Given the description of an element on the screen output the (x, y) to click on. 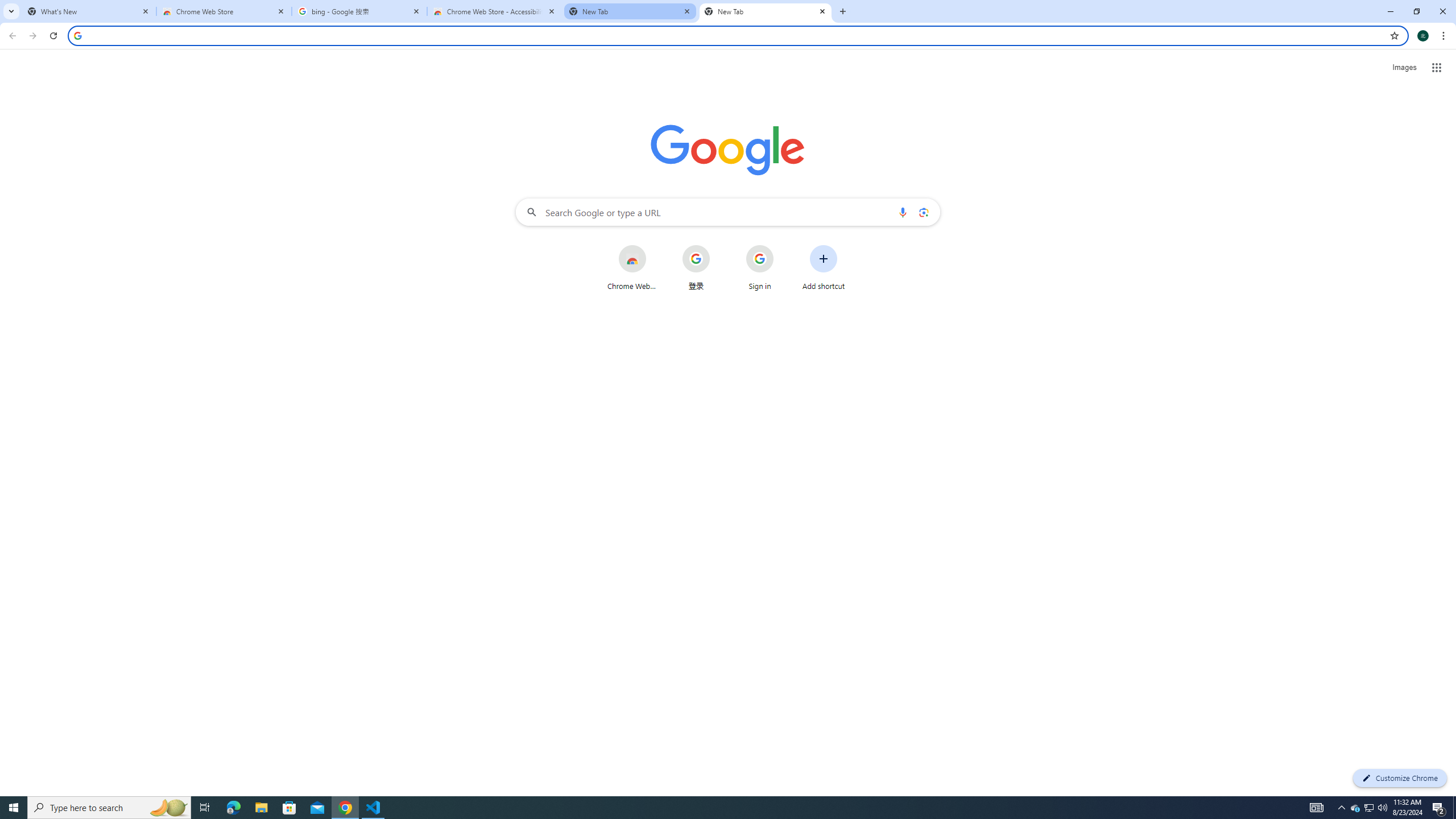
Chrome Web Store (224, 11)
Chrome Web Store (631, 267)
Search for Images  (1403, 67)
Search icon (77, 35)
Customize Chrome (1399, 778)
